Given the description of an element on the screen output the (x, y) to click on. 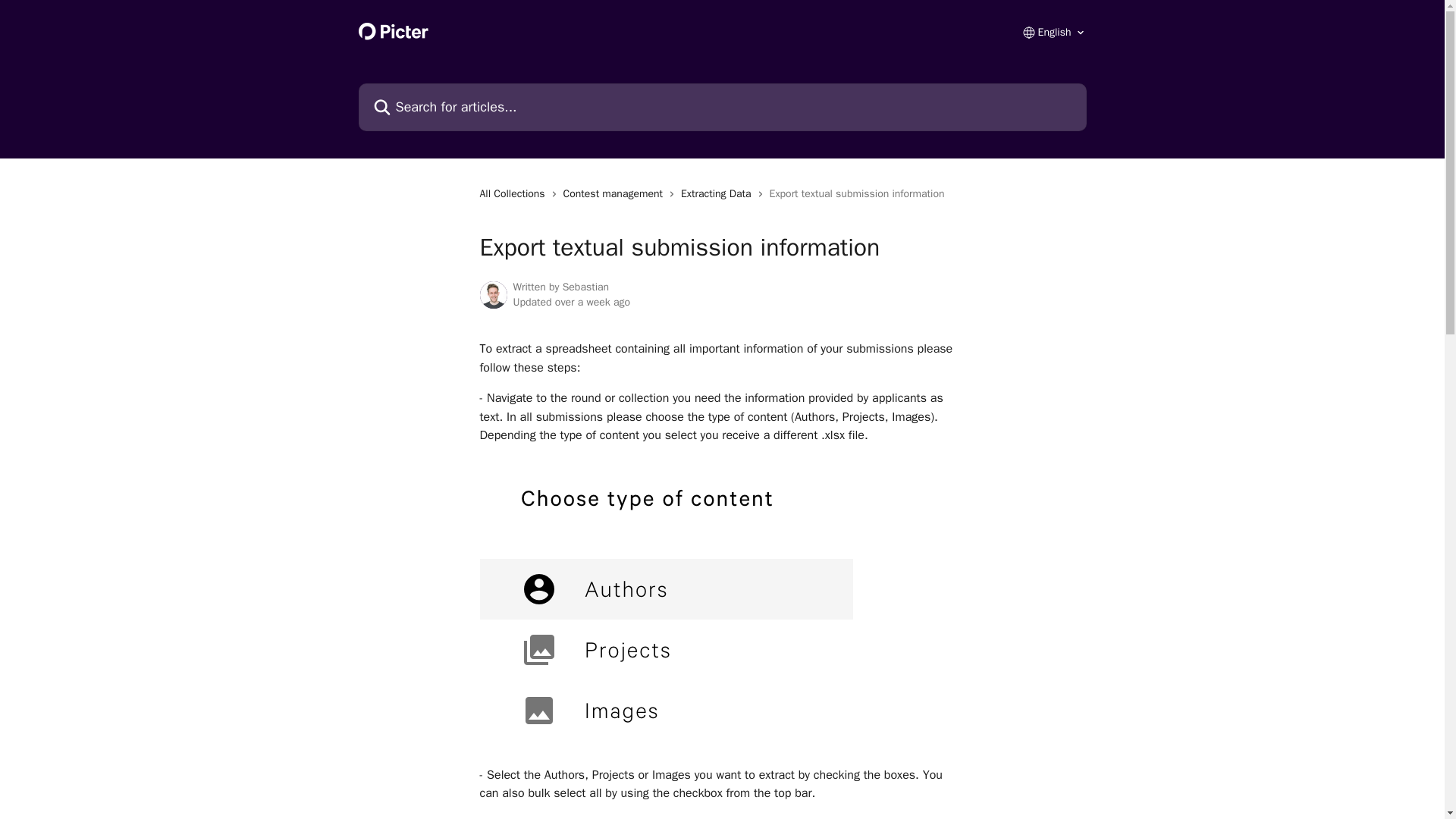
Contest management (615, 193)
All Collections (514, 193)
Extracting Data (719, 193)
